Given the description of an element on the screen output the (x, y) to click on. 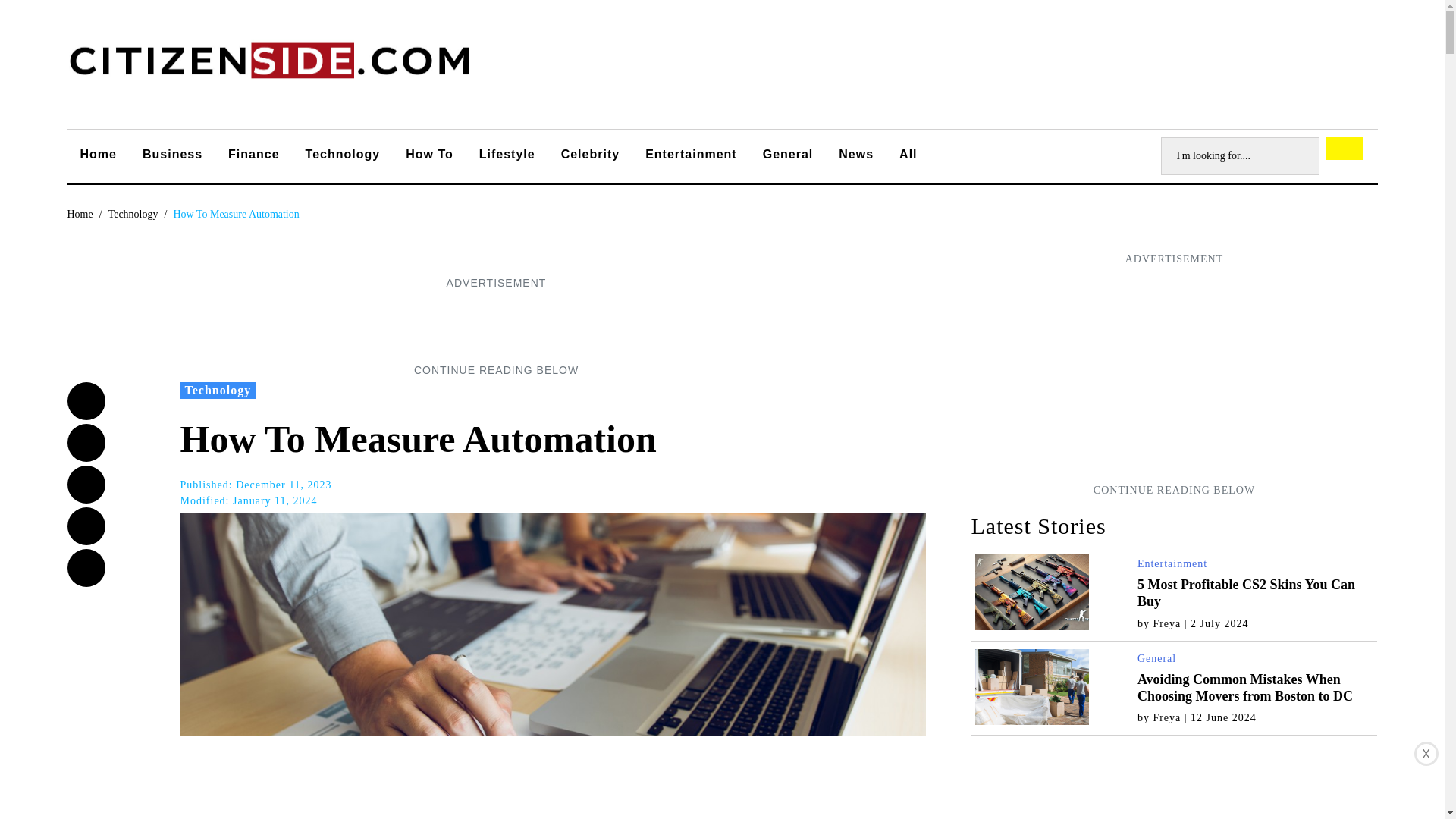
Entertainment (1172, 563)
Technology (132, 214)
Home (79, 214)
News (855, 156)
Celebrity (589, 156)
Facebook (85, 401)
LinkedIn (85, 525)
Technology (132, 214)
Advertisement (495, 326)
